Given the description of an element on the screen output the (x, y) to click on. 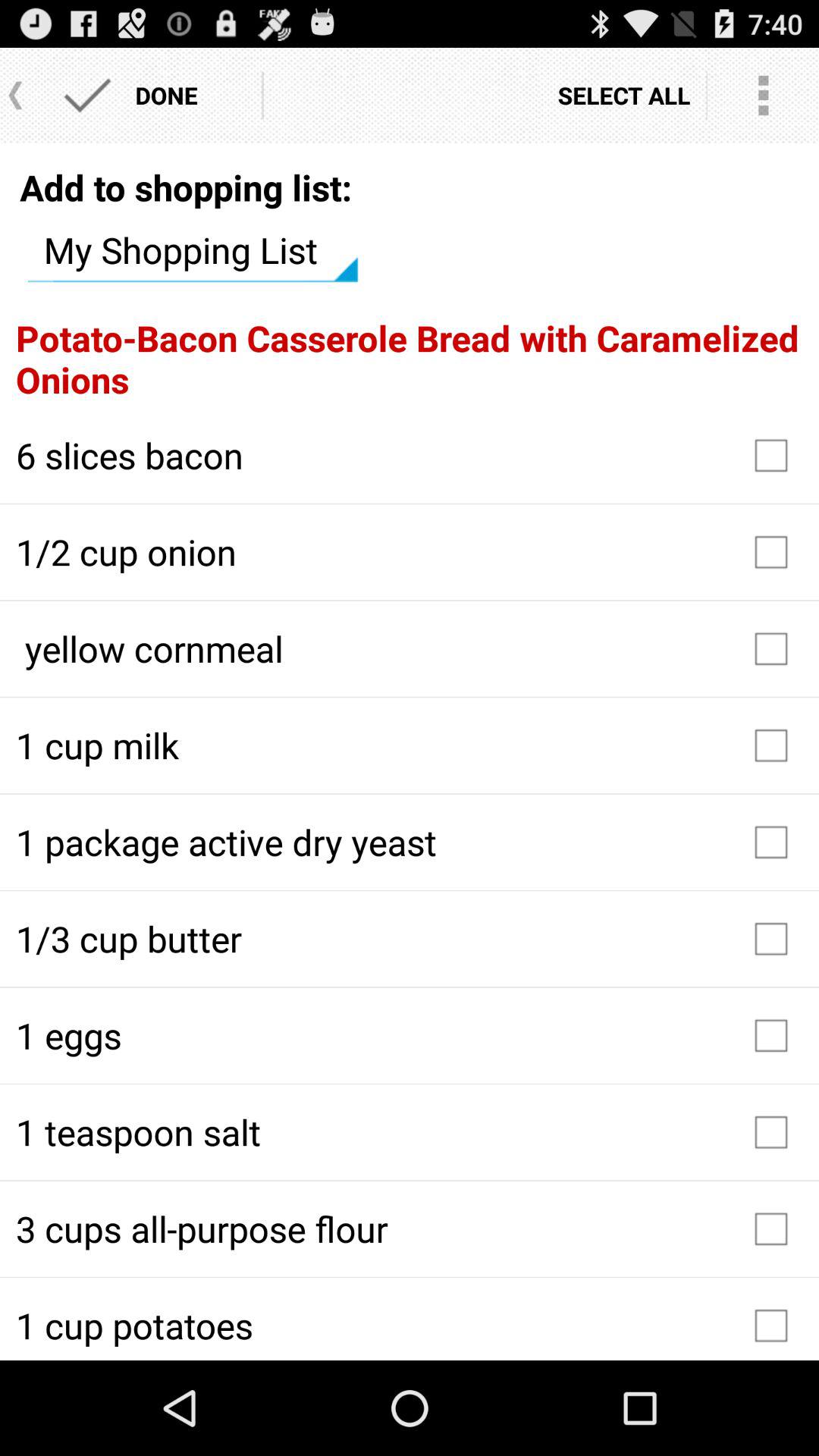
choose icon above 1 cup milk (409, 648)
